Given the description of an element on the screen output the (x, y) to click on. 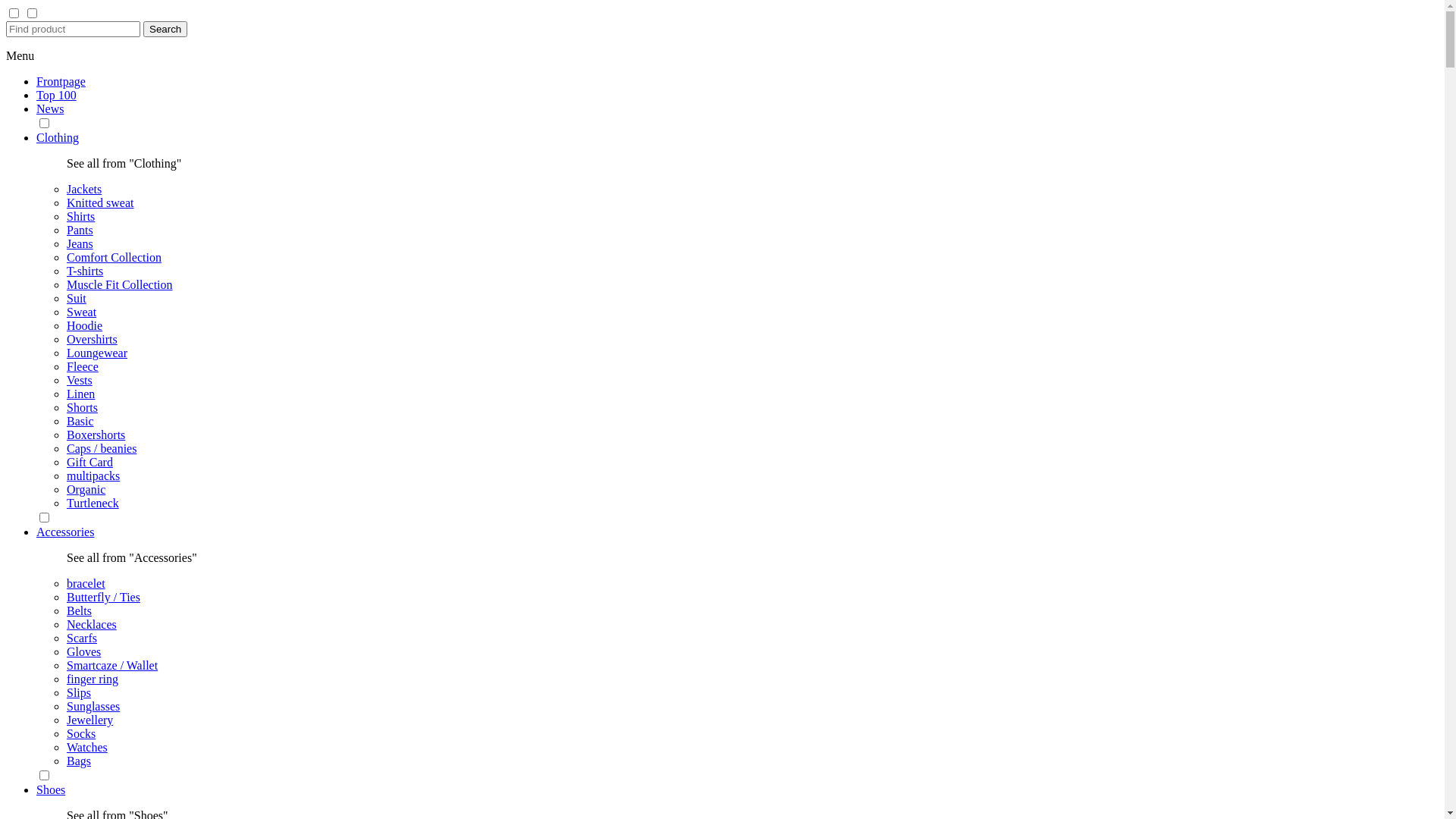
T-shirts Element type: text (84, 270)
Pants Element type: text (79, 229)
Overshirts Element type: text (91, 338)
Accessories Element type: text (65, 531)
Jackets Element type: text (83, 188)
Butterfly / Ties Element type: text (103, 596)
Sweat Element type: text (81, 311)
Basic Element type: text (80, 420)
Turtleneck Element type: text (92, 502)
Shorts Element type: text (81, 407)
Scarfs Element type: text (81, 637)
Linen Element type: text (80, 393)
Socks Element type: text (80, 733)
Comfort Collection Element type: text (113, 257)
Knitted sweat Element type: text (99, 202)
News Element type: text (49, 108)
Top 100 Element type: text (56, 94)
Boxershorts Element type: text (95, 434)
Gift Card Element type: text (89, 461)
Vests Element type: text (79, 379)
Clothing Element type: text (57, 137)
Hoodie Element type: text (84, 325)
Shoes Element type: text (50, 789)
Jewellery Element type: text (89, 719)
Necklaces Element type: text (91, 624)
Muscle Fit Collection Element type: text (119, 284)
multipacks Element type: text (92, 475)
Shirts Element type: text (80, 216)
Fleece Element type: text (82, 366)
Search Element type: text (165, 29)
Bags Element type: text (78, 760)
Watches Element type: text (86, 746)
Slips Element type: text (78, 692)
bracelet Element type: text (85, 583)
Gloves Element type: text (83, 651)
Organic Element type: text (85, 489)
finger ring Element type: text (92, 678)
Sunglasses Element type: text (92, 705)
Frontpage Element type: text (60, 81)
Caps / beanies Element type: text (101, 448)
Jeans Element type: text (79, 243)
Suit Element type: text (76, 297)
Loungewear Element type: text (96, 352)
Smartcaze / Wallet Element type: text (111, 664)
Belts Element type: text (78, 610)
